Given the description of an element on the screen output the (x, y) to click on. 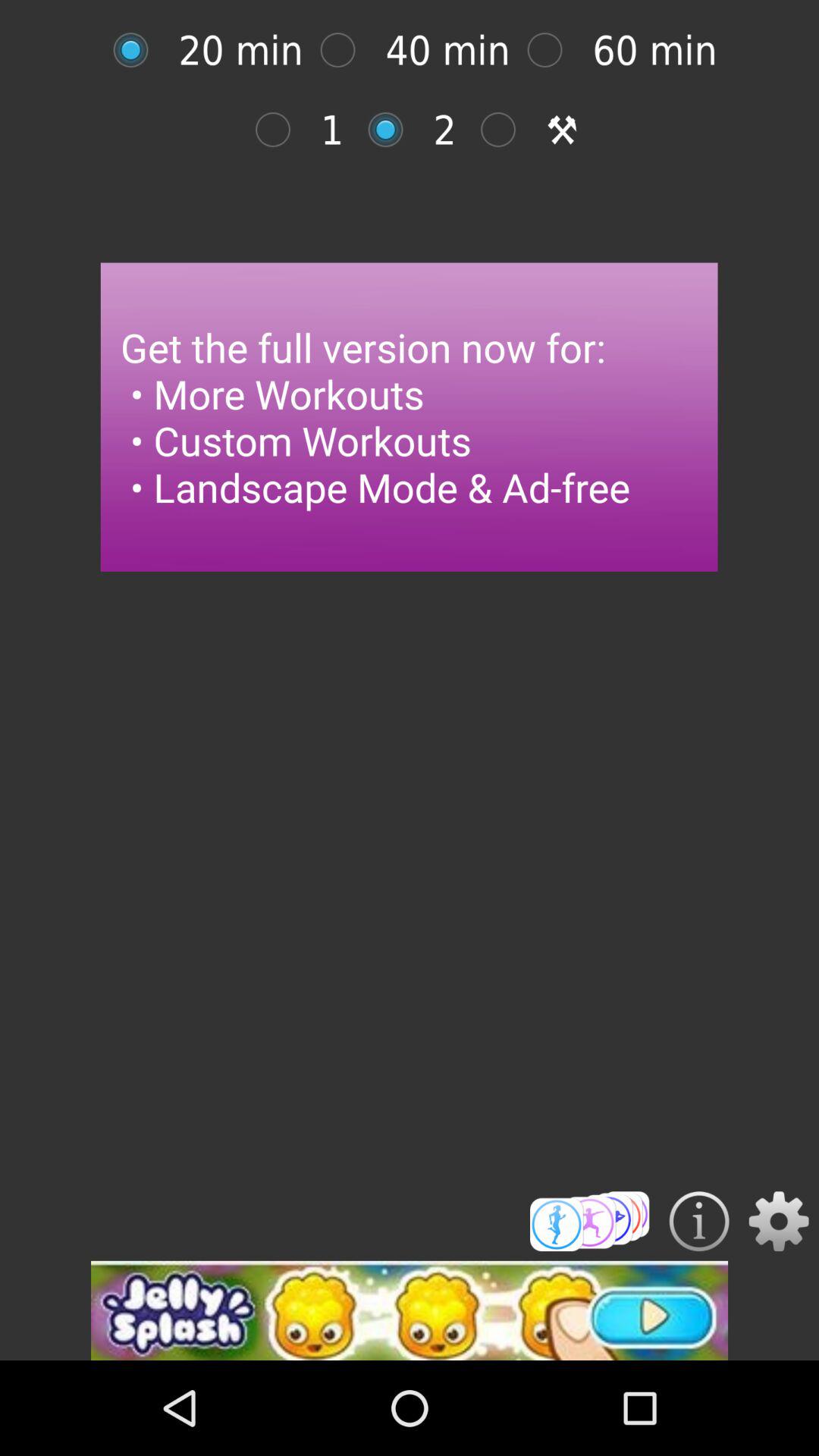
open advertisements (409, 1310)
